Given the description of an element on the screen output the (x, y) to click on. 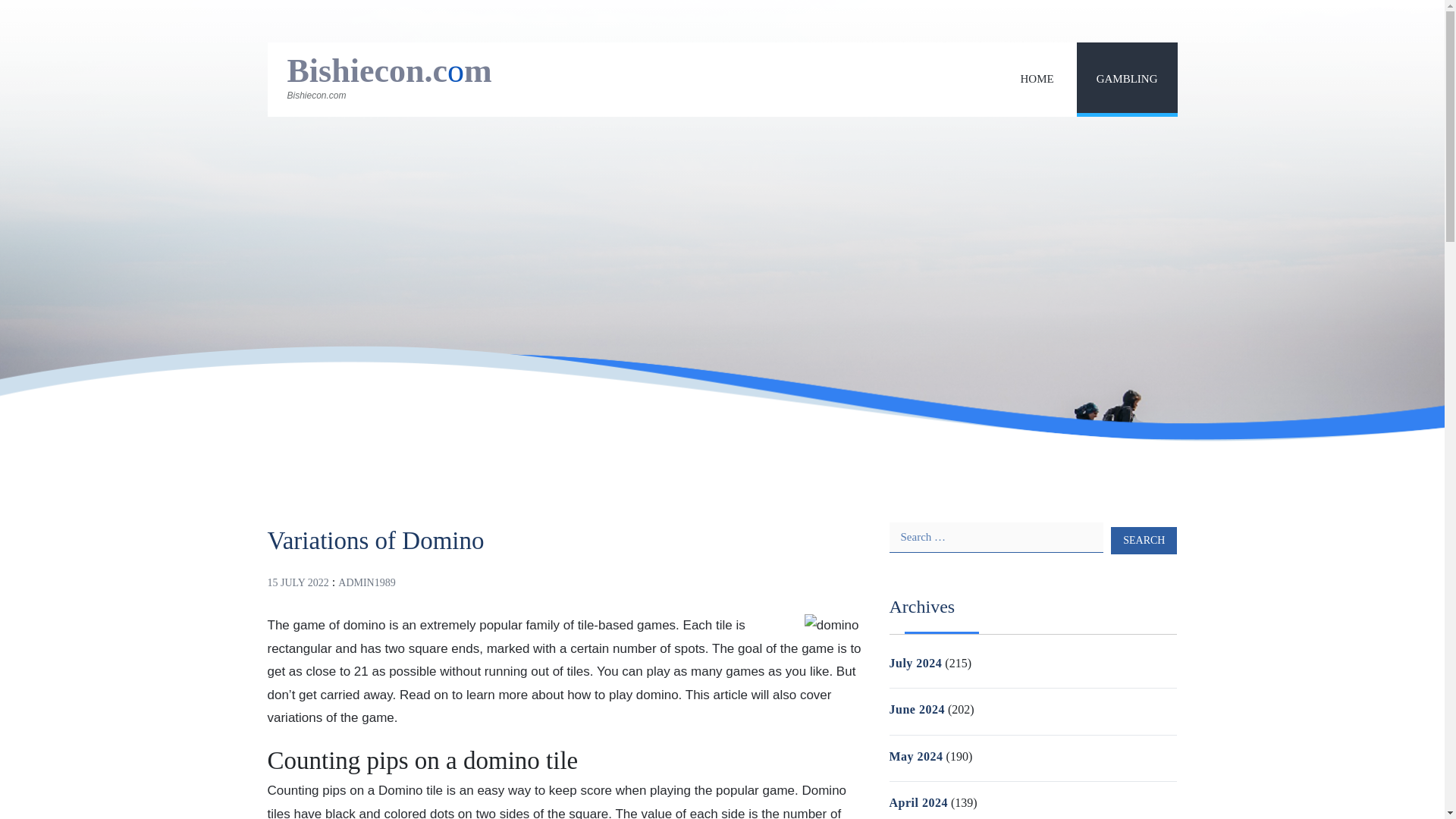
15 JULY 2022 (297, 582)
Search (1143, 539)
April 2024 (917, 802)
Bishiecon.com (389, 70)
Search (1143, 539)
May 2024 (915, 756)
July 2024 (915, 662)
June 2024 (915, 708)
ADMIN1989 (365, 582)
HOME (1036, 78)
GAMBLING (1126, 78)
Search (1143, 539)
